Given the description of an element on the screen output the (x, y) to click on. 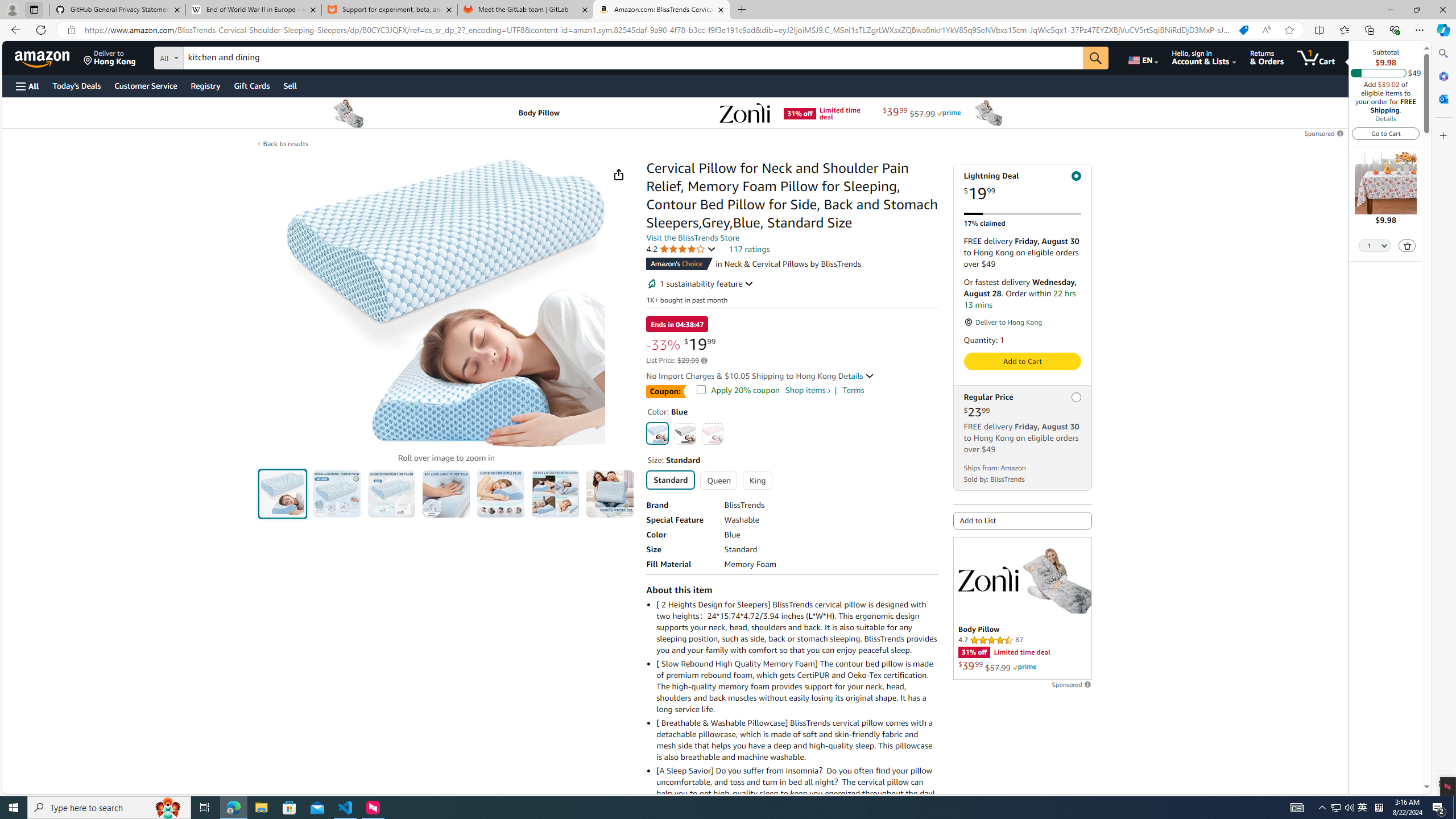
Terms (852, 389)
Amazon (43, 57)
Today's Deals (76, 85)
Learn more about Amazon pricing and savings (703, 361)
Grey (684, 433)
Blue (657, 432)
Visit the BlissTrends Store (692, 237)
